Given the description of an element on the screen output the (x, y) to click on. 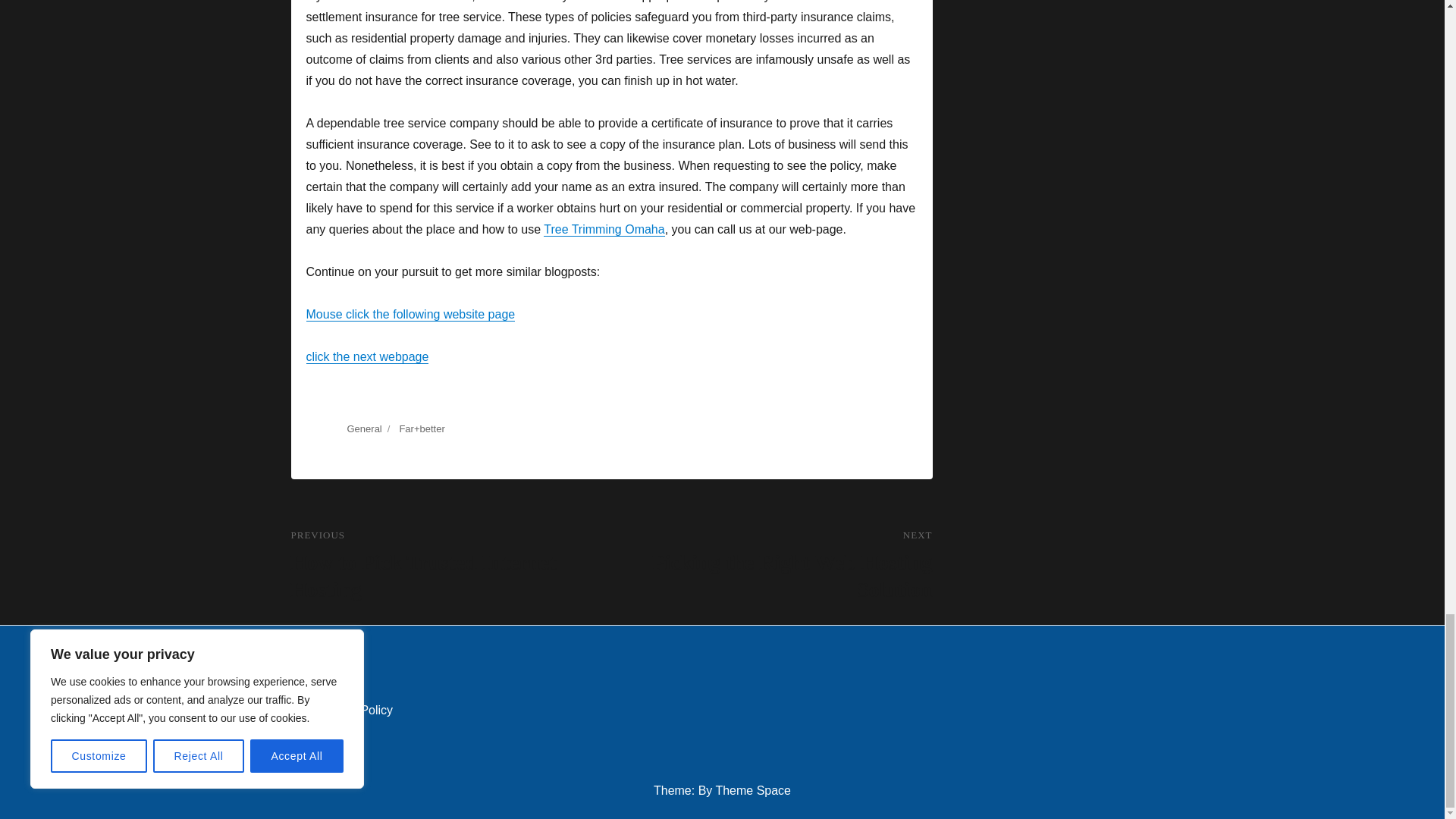
click the next webpage (367, 356)
Tree Trimming Omaha (603, 228)
General (364, 428)
Mouse click the following website page (410, 314)
